Given the description of an element on the screen output the (x, y) to click on. 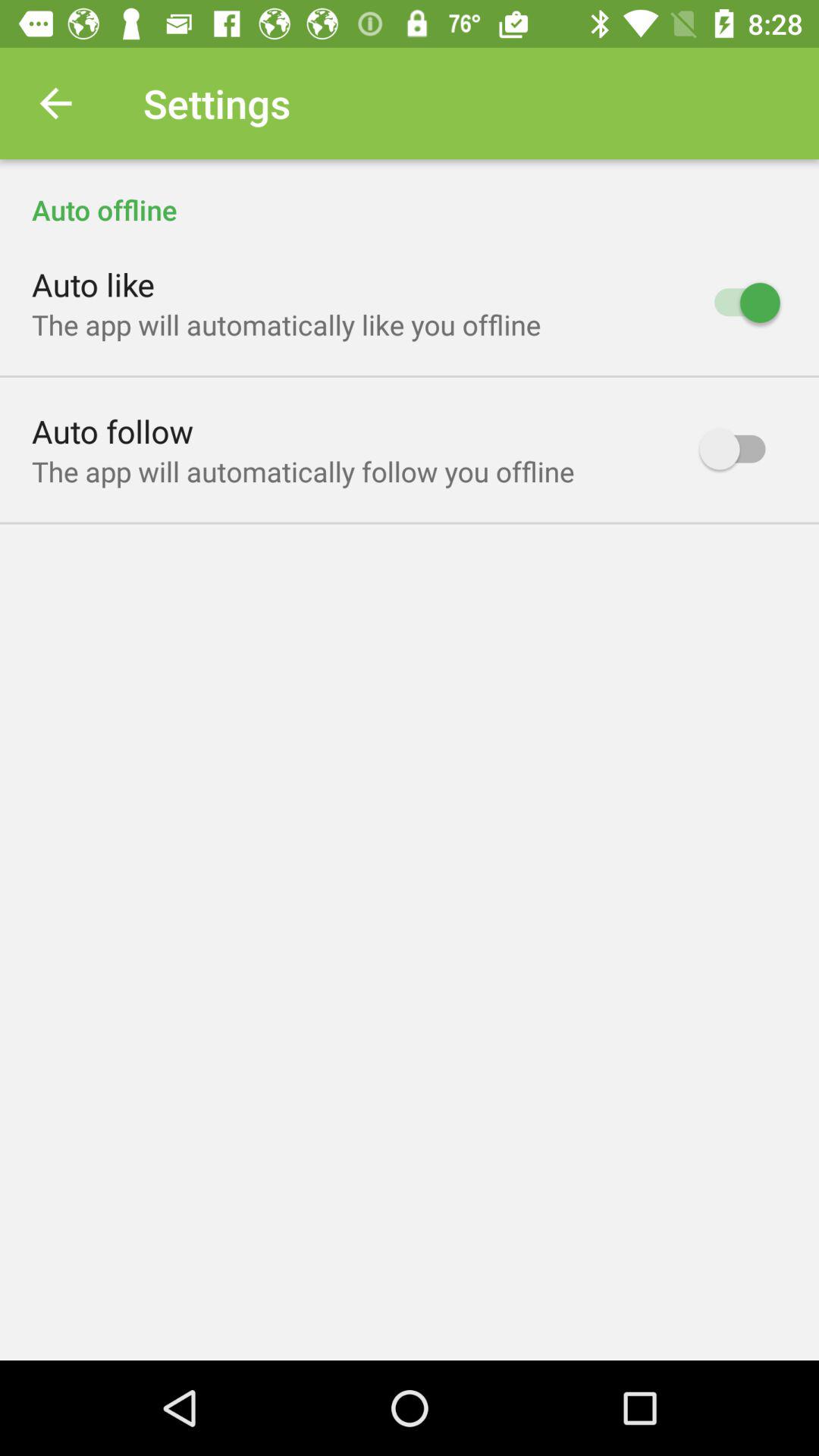
click the auto follow item (112, 430)
